Given the description of an element on the screen output the (x, y) to click on. 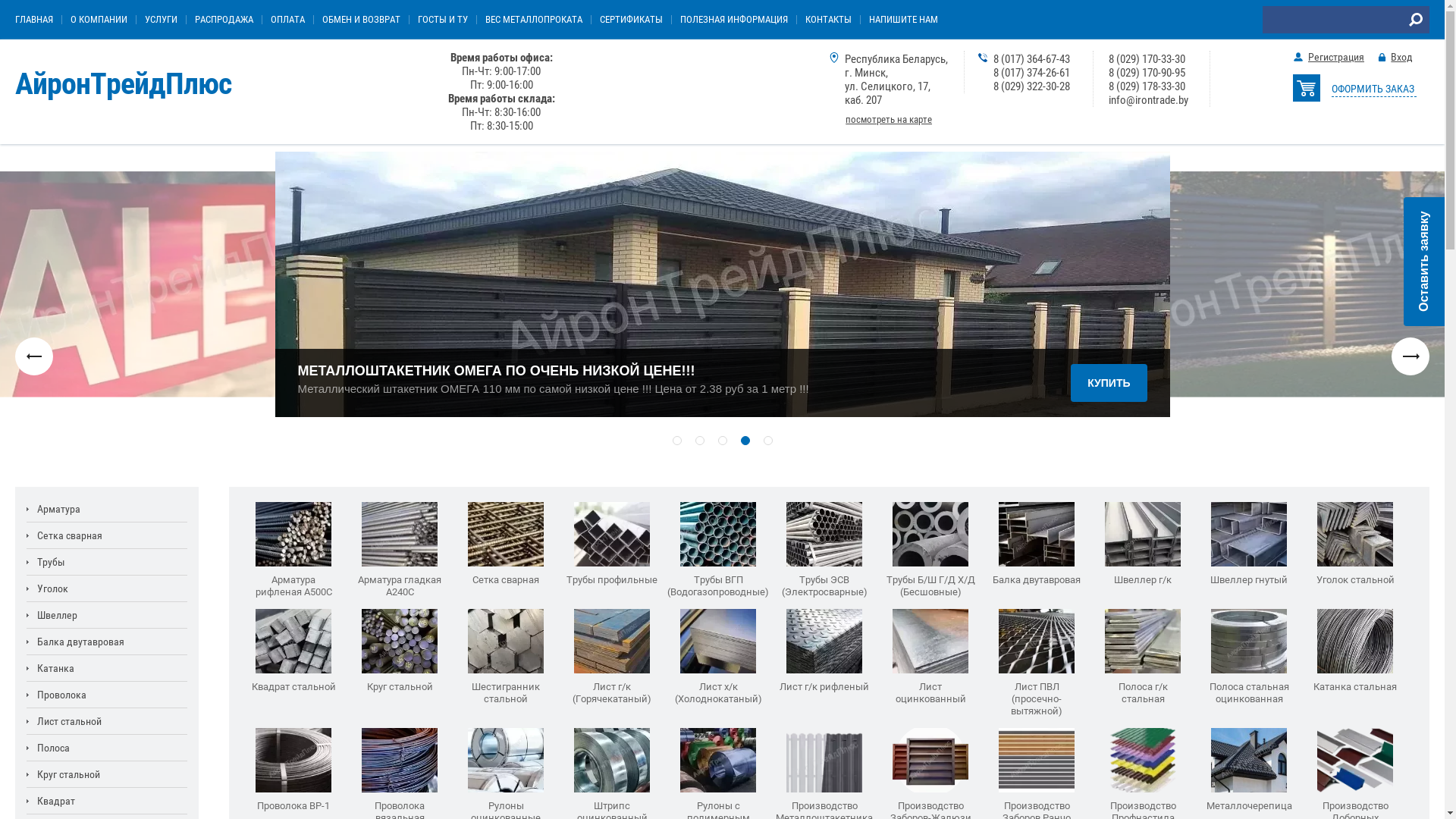
8 (029) 178-33-30 Element type: text (1146, 86)
8 (029) 170-90-95 Element type: text (1146, 72)
8 (017) 364-67-43 Element type: text (1031, 58)
info@irontrade.by Element type: text (1148, 99)
8 (029) 170-33-30 Element type: text (1146, 58)
8 (017) 374-26-61 Element type: text (1031, 72)
8 (029) 322-30-28 Element type: text (1031, 86)
